Given the description of an element on the screen output the (x, y) to click on. 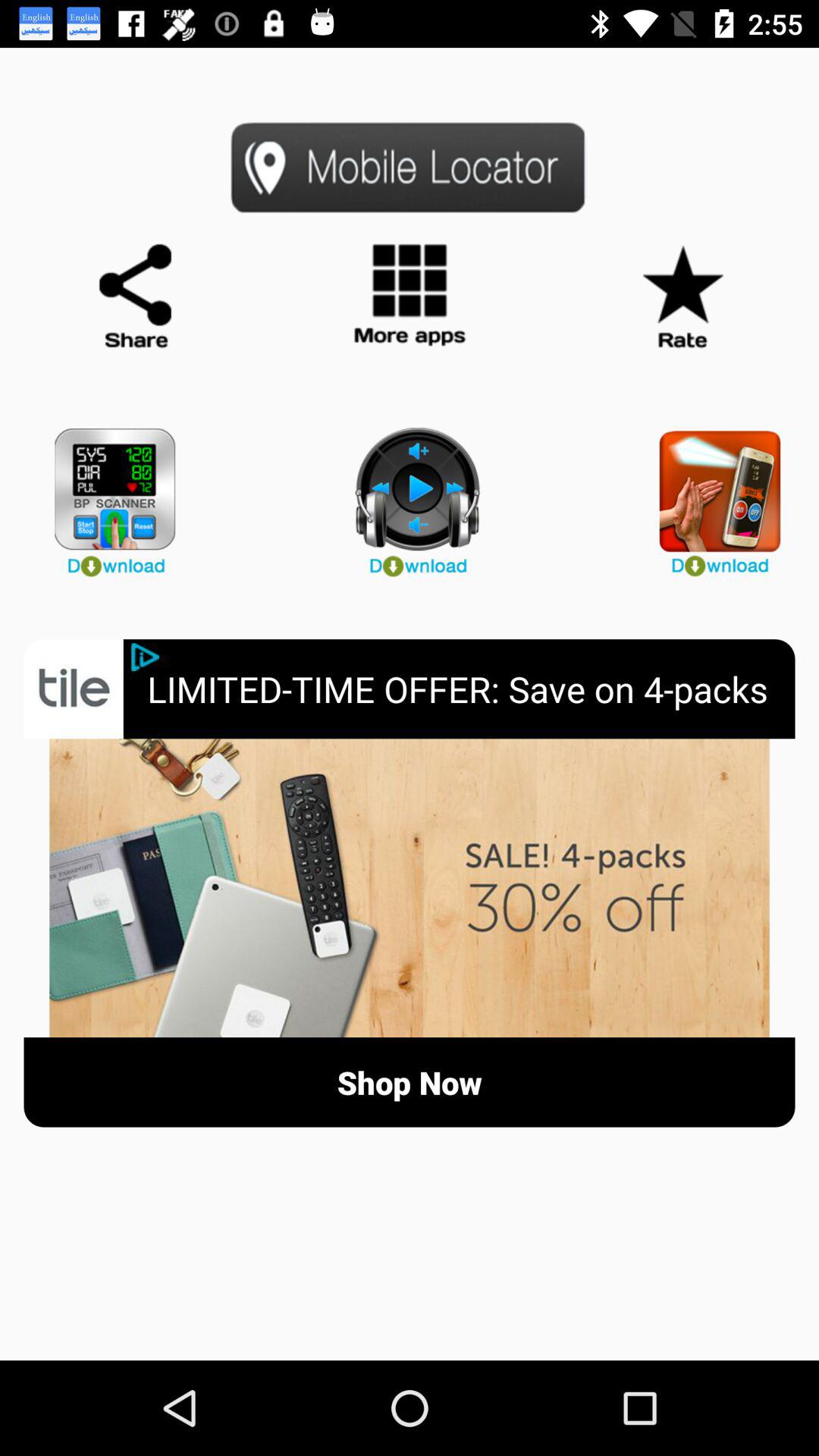
swipe until the shop now button (409, 1082)
